Given the description of an element on the screen output the (x, y) to click on. 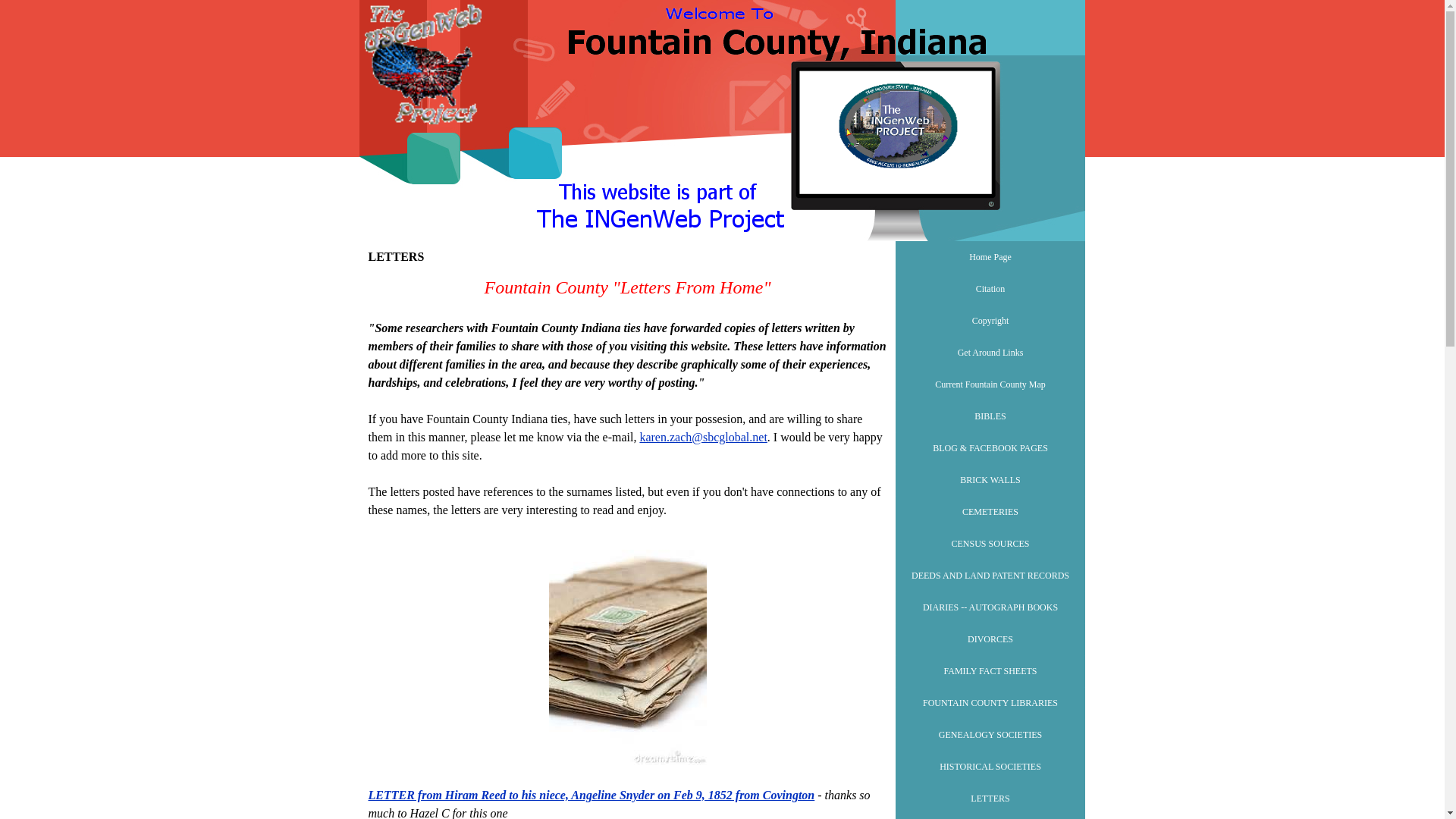
Current Fountain County Map (990, 384)
Home Page (990, 256)
Copyright (990, 320)
INGenWeb (897, 125)
USGenWeb (423, 65)
BIBLES (990, 416)
BRICK WALLS (990, 480)
CEMETERIES (990, 511)
Get Around Links (990, 352)
Citation (990, 288)
